Given the description of an element on the screen output the (x, y) to click on. 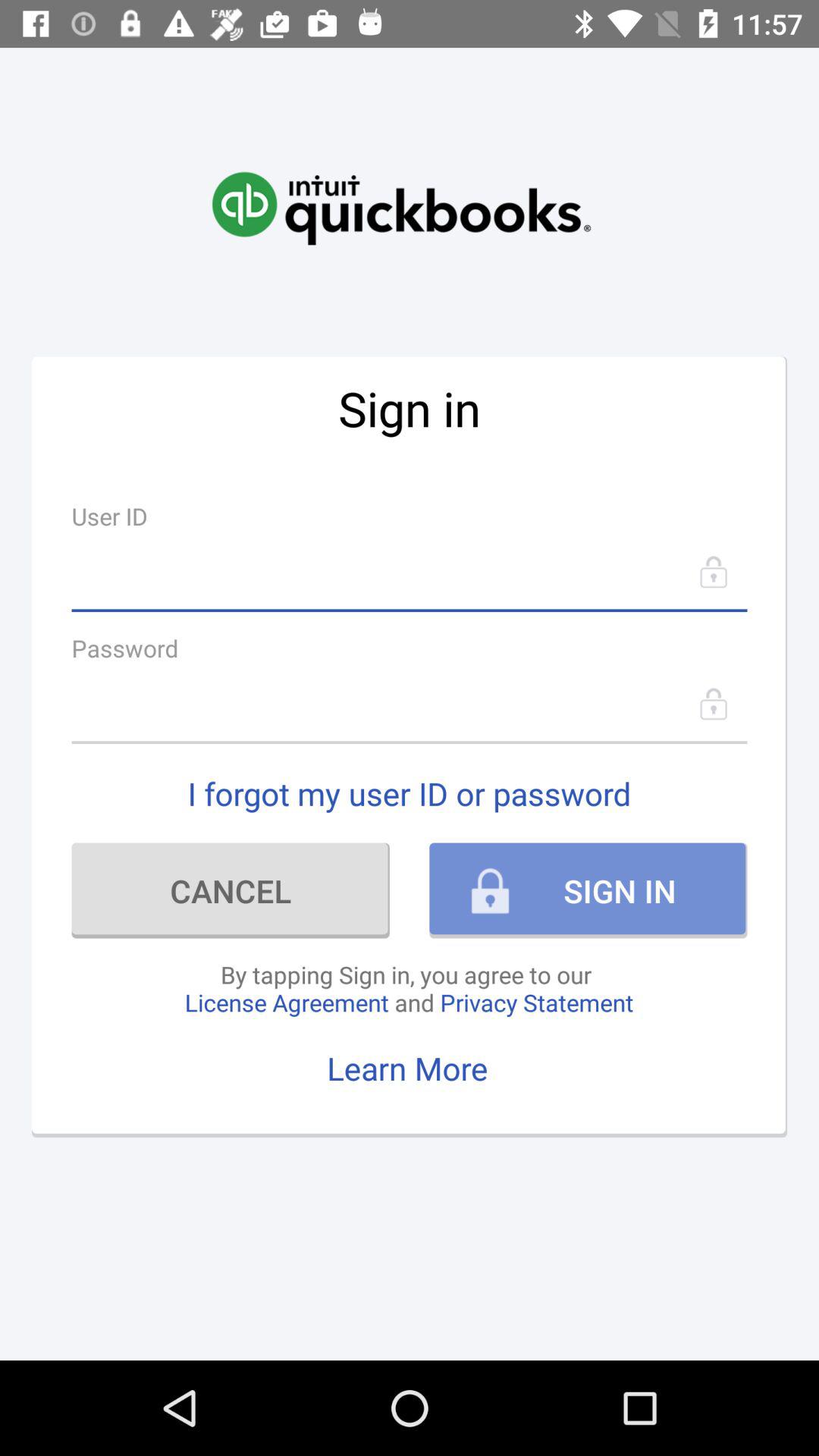
turn on by tapping sign icon (408, 988)
